Given the description of an element on the screen output the (x, y) to click on. 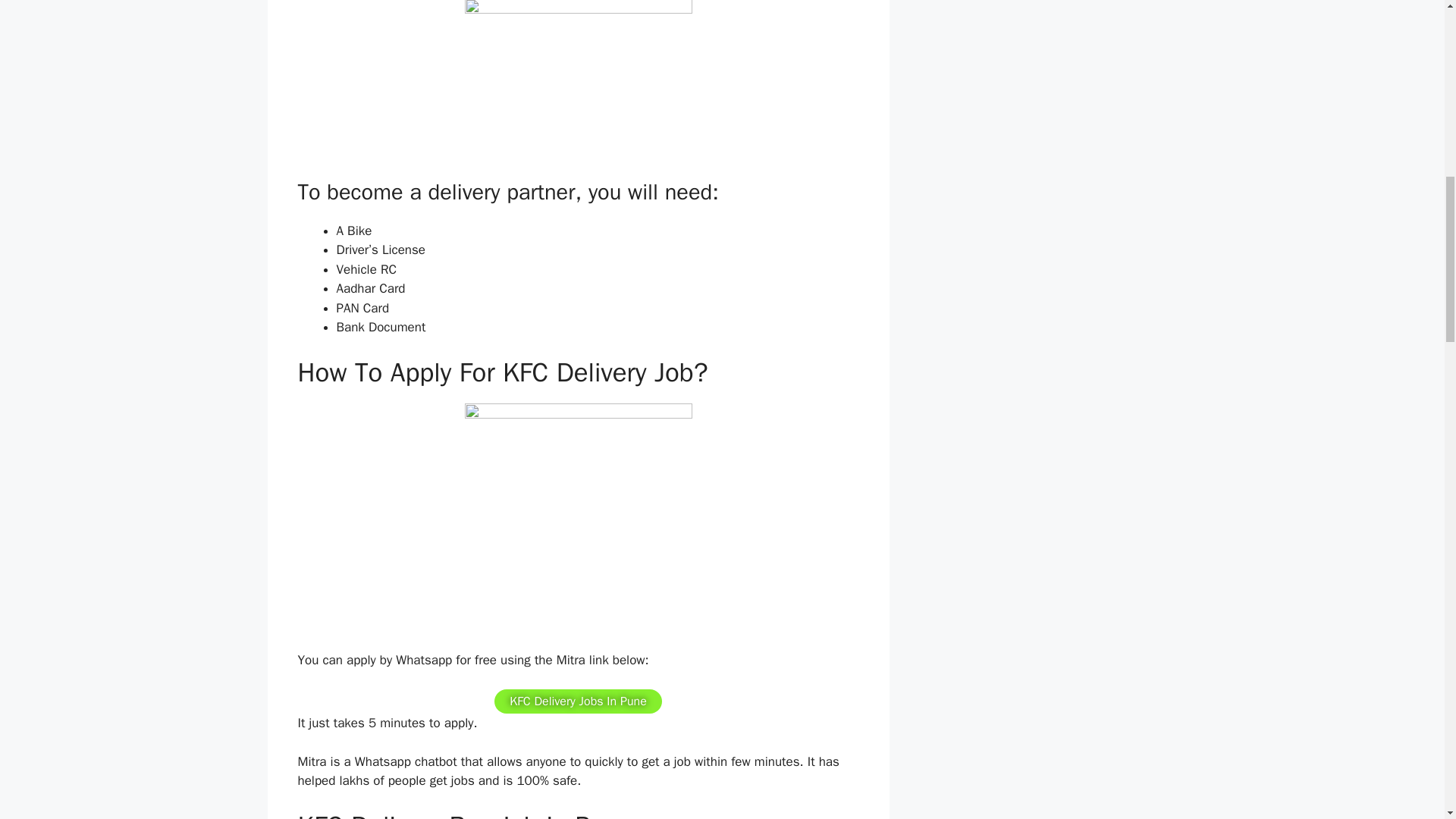
KFC Delivery Jobs In Pune (578, 701)
